Given the description of an element on the screen output the (x, y) to click on. 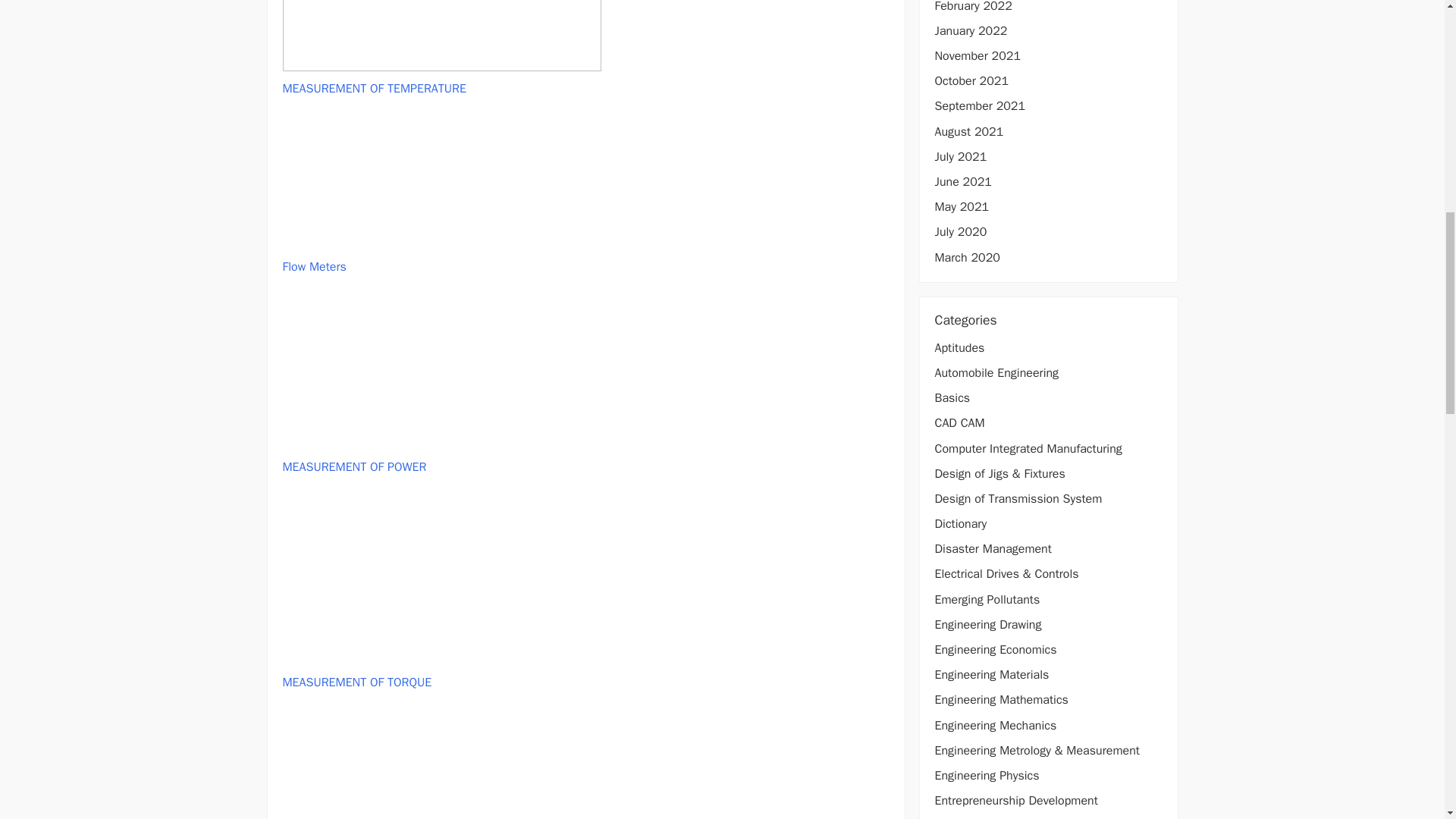
MEASUREMENT OF TORQUE (356, 682)
MEASUREMENT OF POWER (354, 467)
Flow Meters (314, 266)
MEASUREMENT OF TEMPERATURE (373, 88)
